Given the description of an element on the screen output the (x, y) to click on. 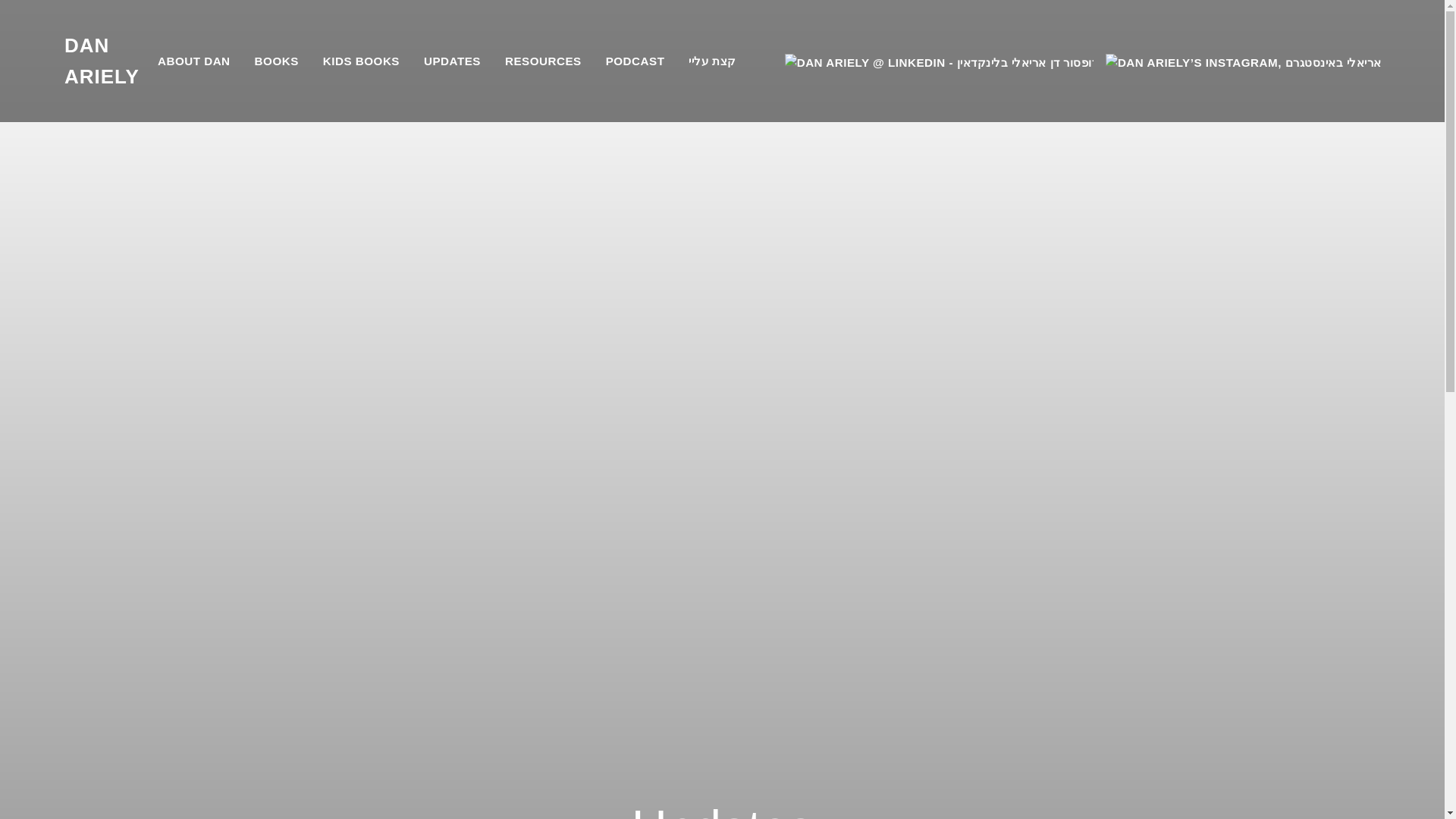
RESOURCES (542, 61)
DAN ARIELY (104, 60)
BOOKS (276, 61)
ABOUT DAN (193, 61)
PODCAST (635, 61)
UPDATES (451, 61)
KIDS BOOKS (360, 61)
